Given the description of an element on the screen output the (x, y) to click on. 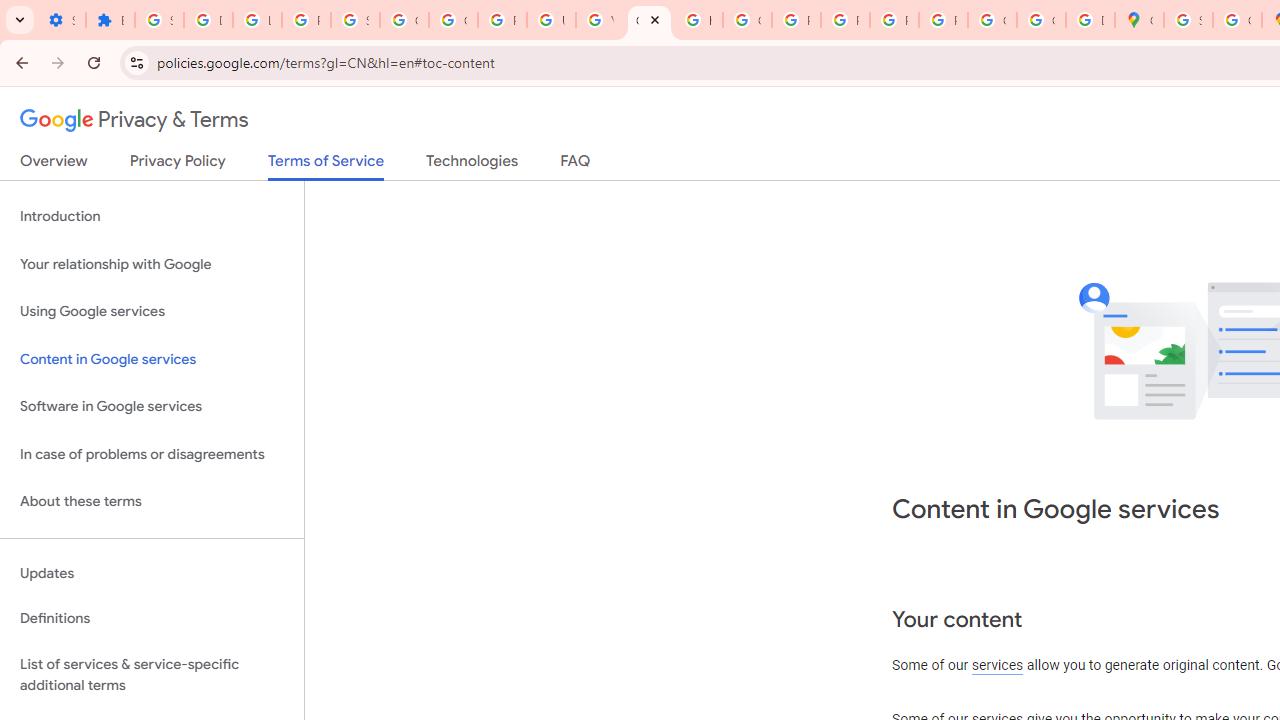
Google Account Help (404, 20)
Google Maps (1138, 20)
Google Account Help (452, 20)
Sign in - Google Accounts (1188, 20)
